Given the description of an element on the screen output the (x, y) to click on. 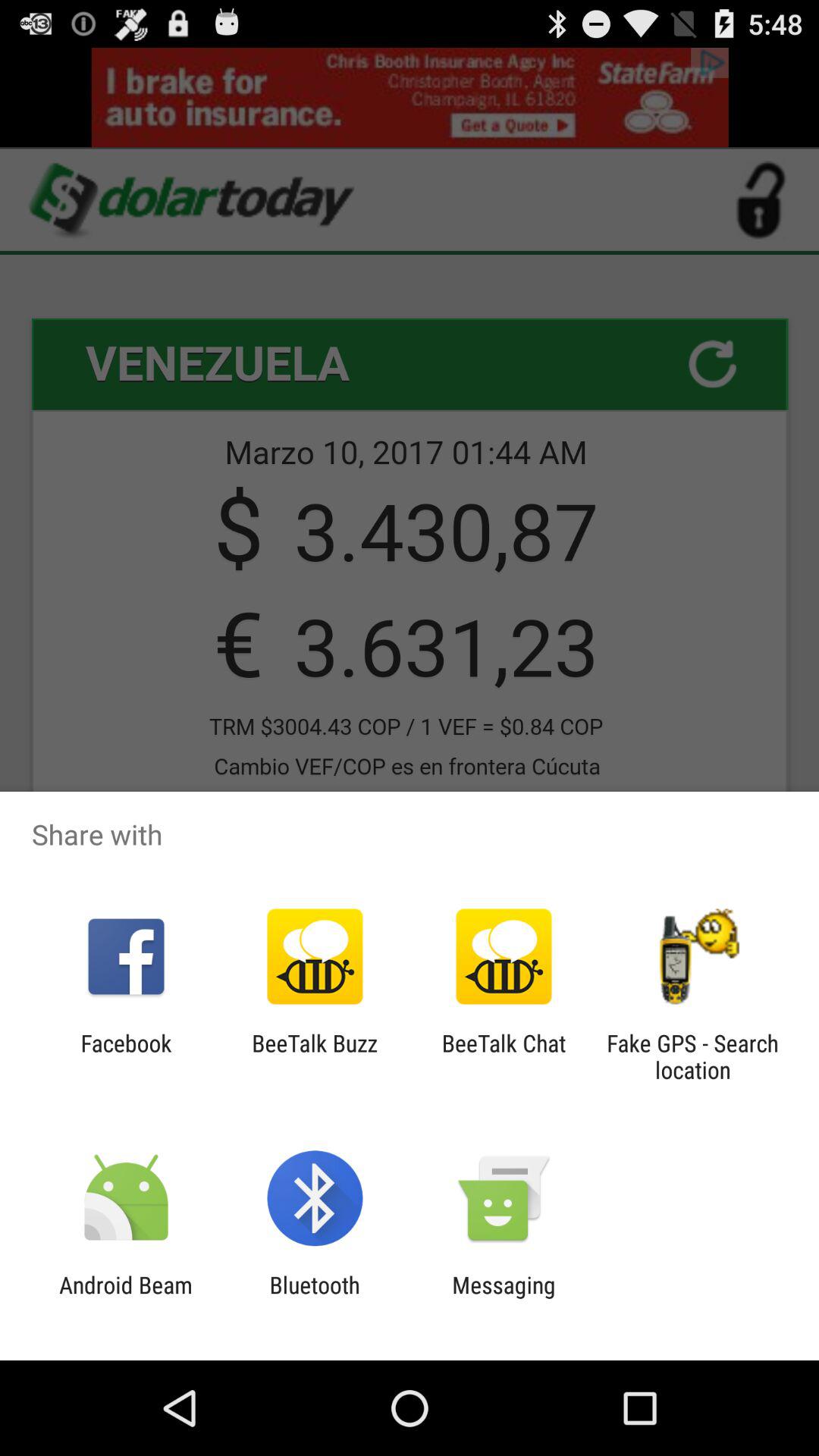
turn on icon next to messaging icon (314, 1298)
